Given the description of an element on the screen output the (x, y) to click on. 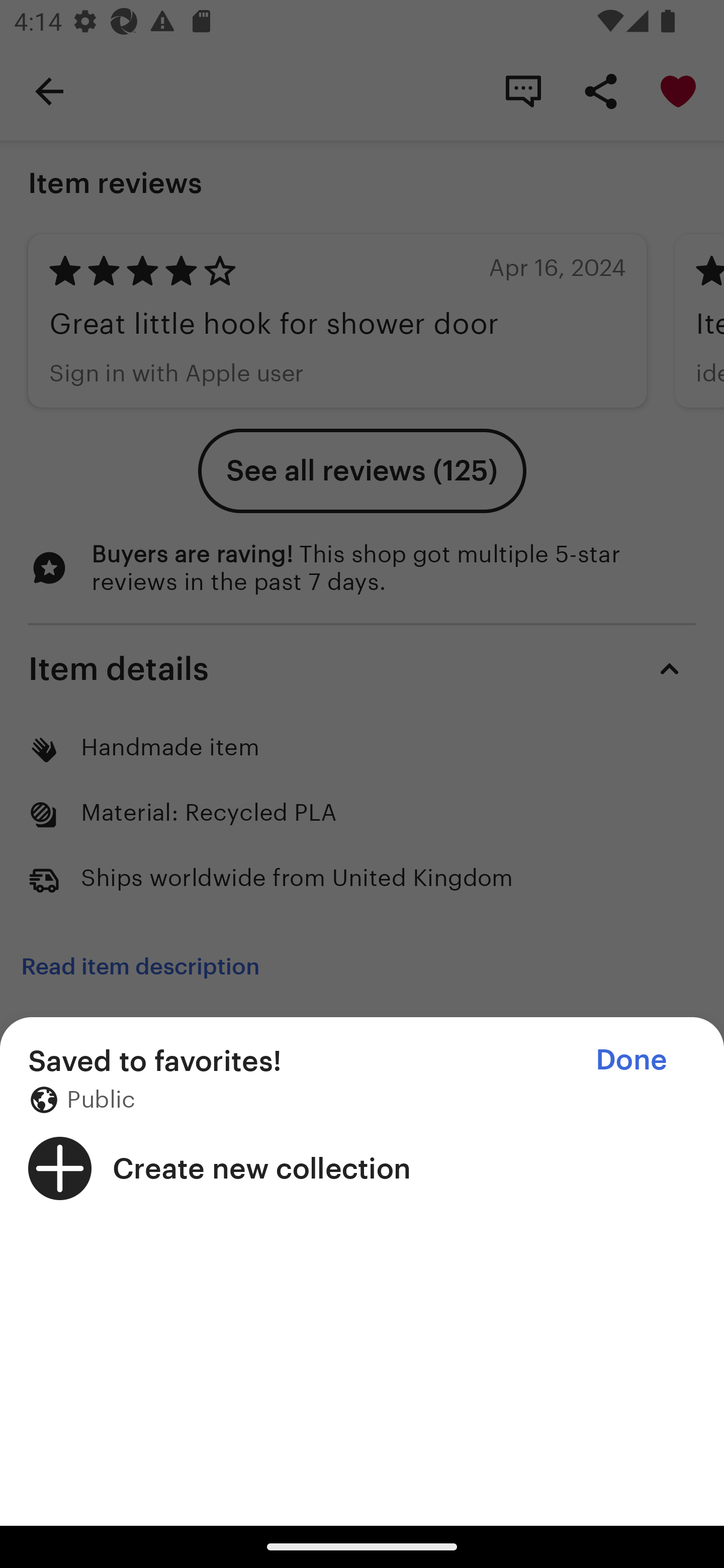
Done (630, 1059)
Create new collection (361, 1167)
